Given the description of an element on the screen output the (x, y) to click on. 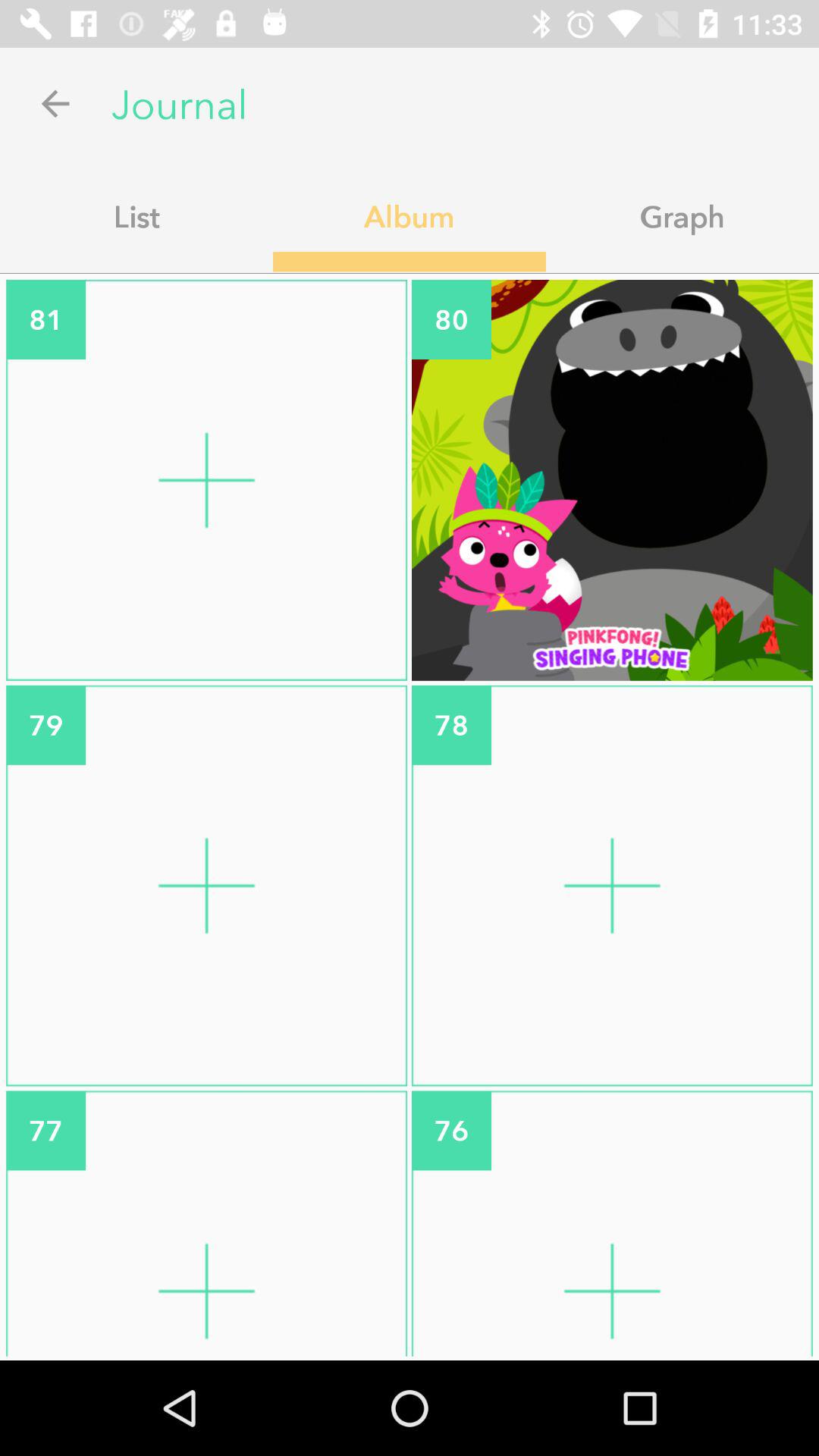
open icon to the left of journal item (55, 103)
